Given the description of an element on the screen output the (x, y) to click on. 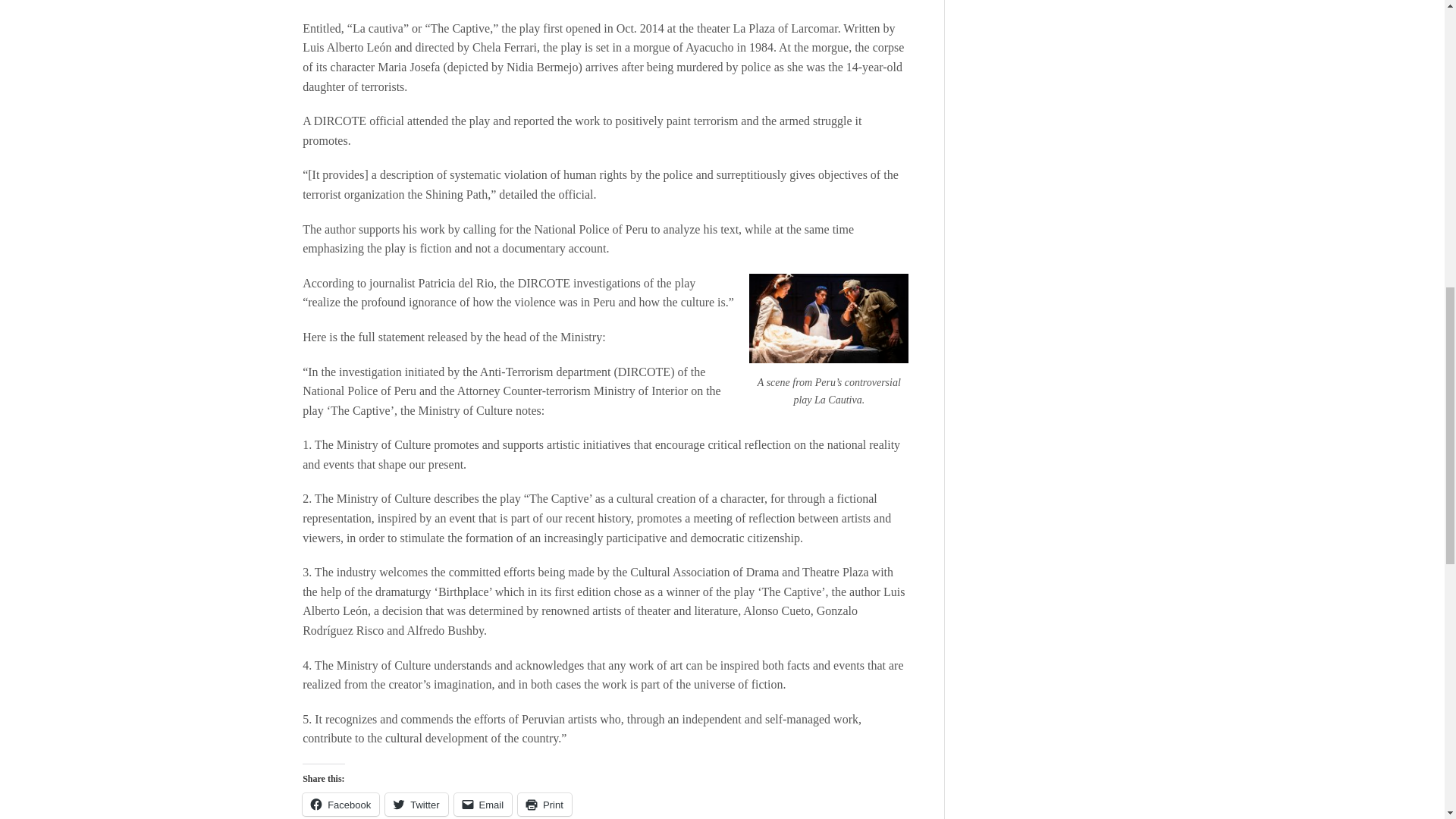
Share to twitter (694, 48)
Share to google plus (721, 48)
Click to email a link to a friend (483, 804)
Click to print (545, 804)
Share to facebook (668, 48)
Click to share on Twitter (415, 804)
Click to share on Facebook (340, 804)
